Given the description of an element on the screen output the (x, y) to click on. 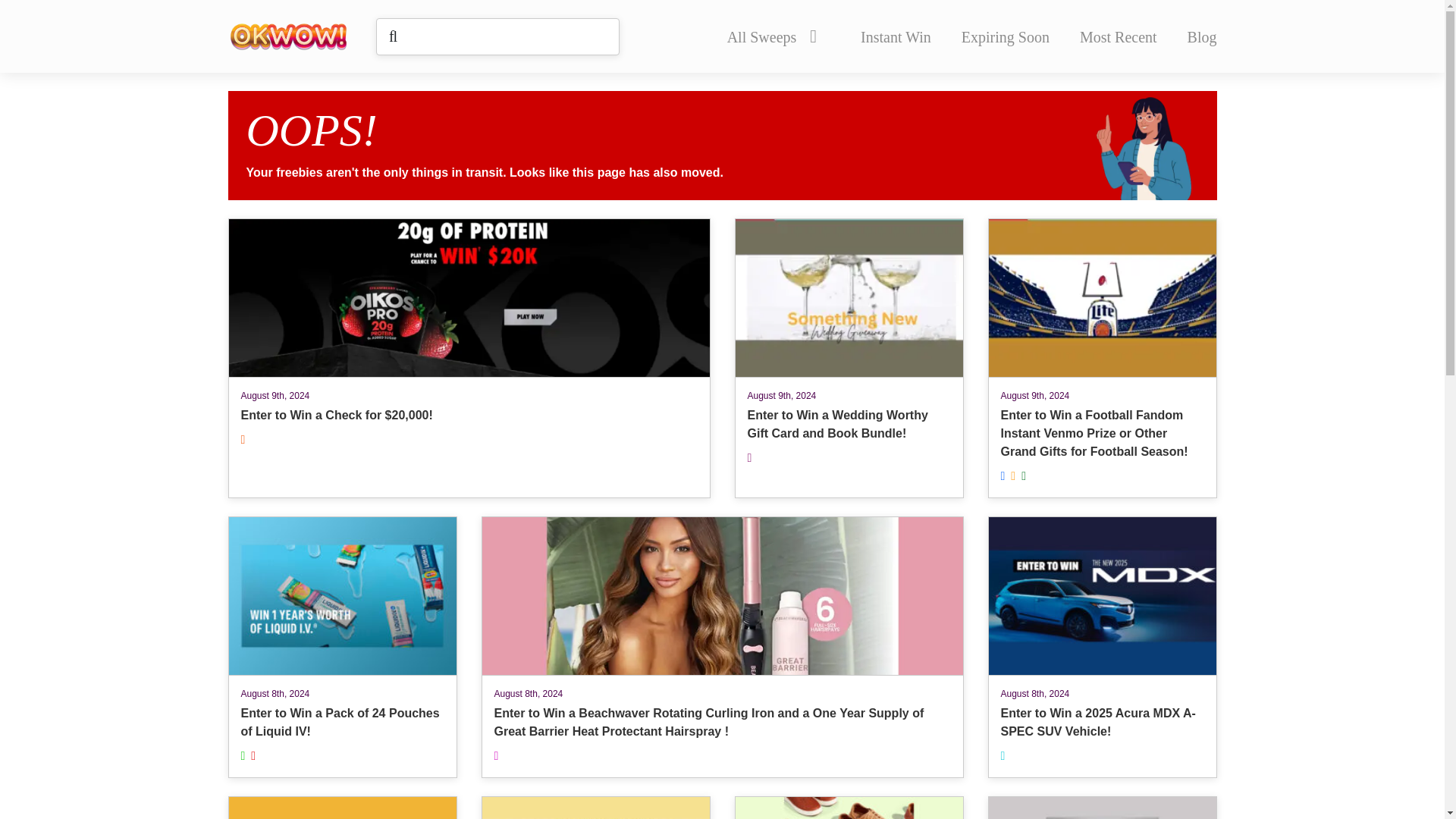
Most Recent (1101, 807)
All Sweeps (1118, 36)
Expiring Soon (771, 36)
Instant Win (1004, 36)
